Given the description of an element on the screen output the (x, y) to click on. 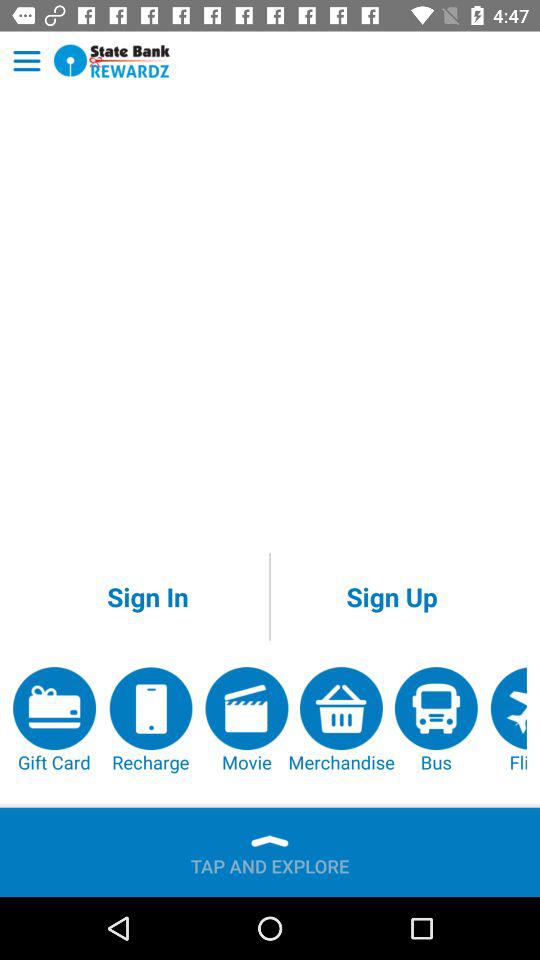
state bank rewardz (112, 60)
